Given the description of an element on the screen output the (x, y) to click on. 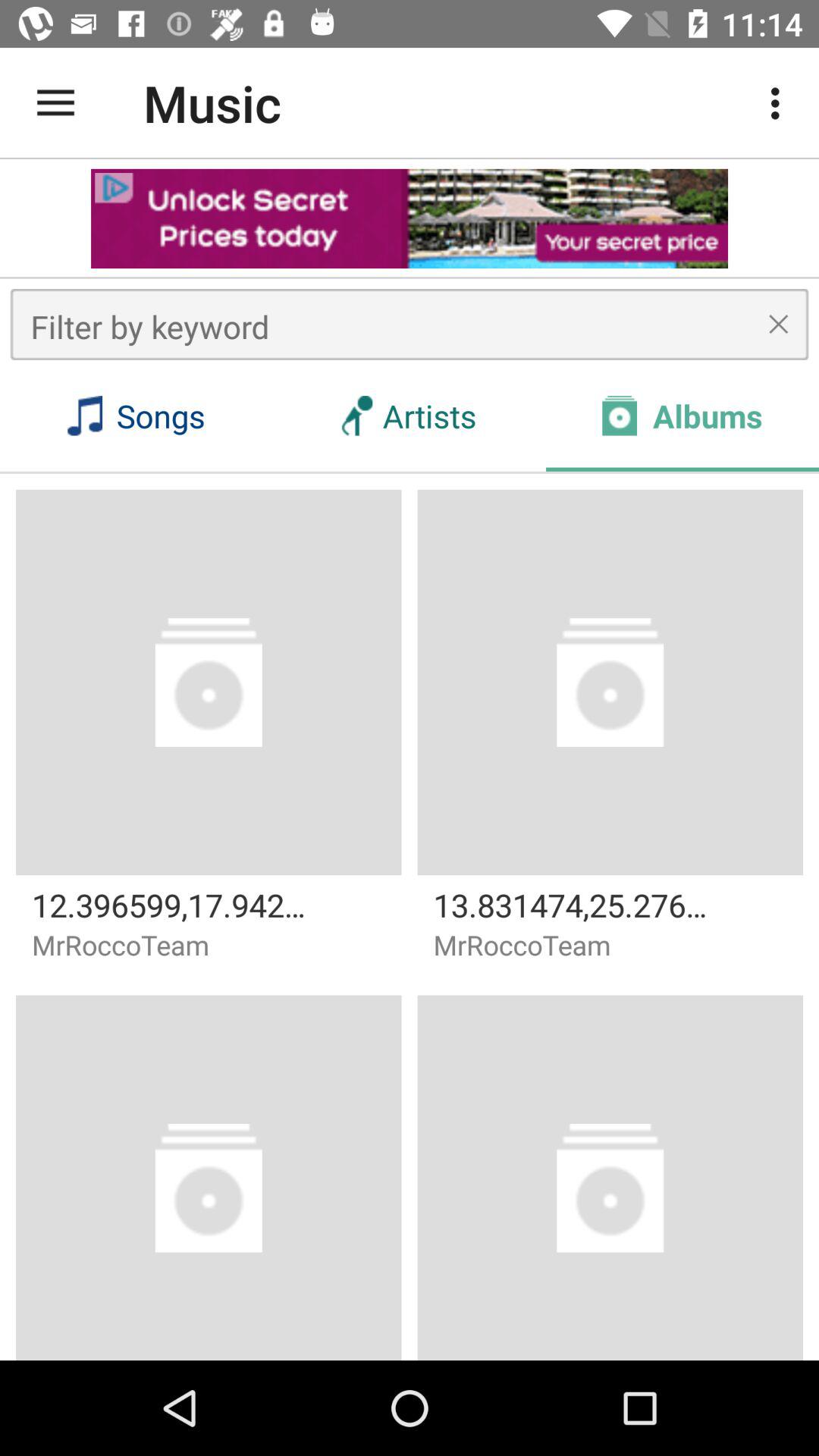
go to advertisement page (409, 218)
